Given the description of an element on the screen output the (x, y) to click on. 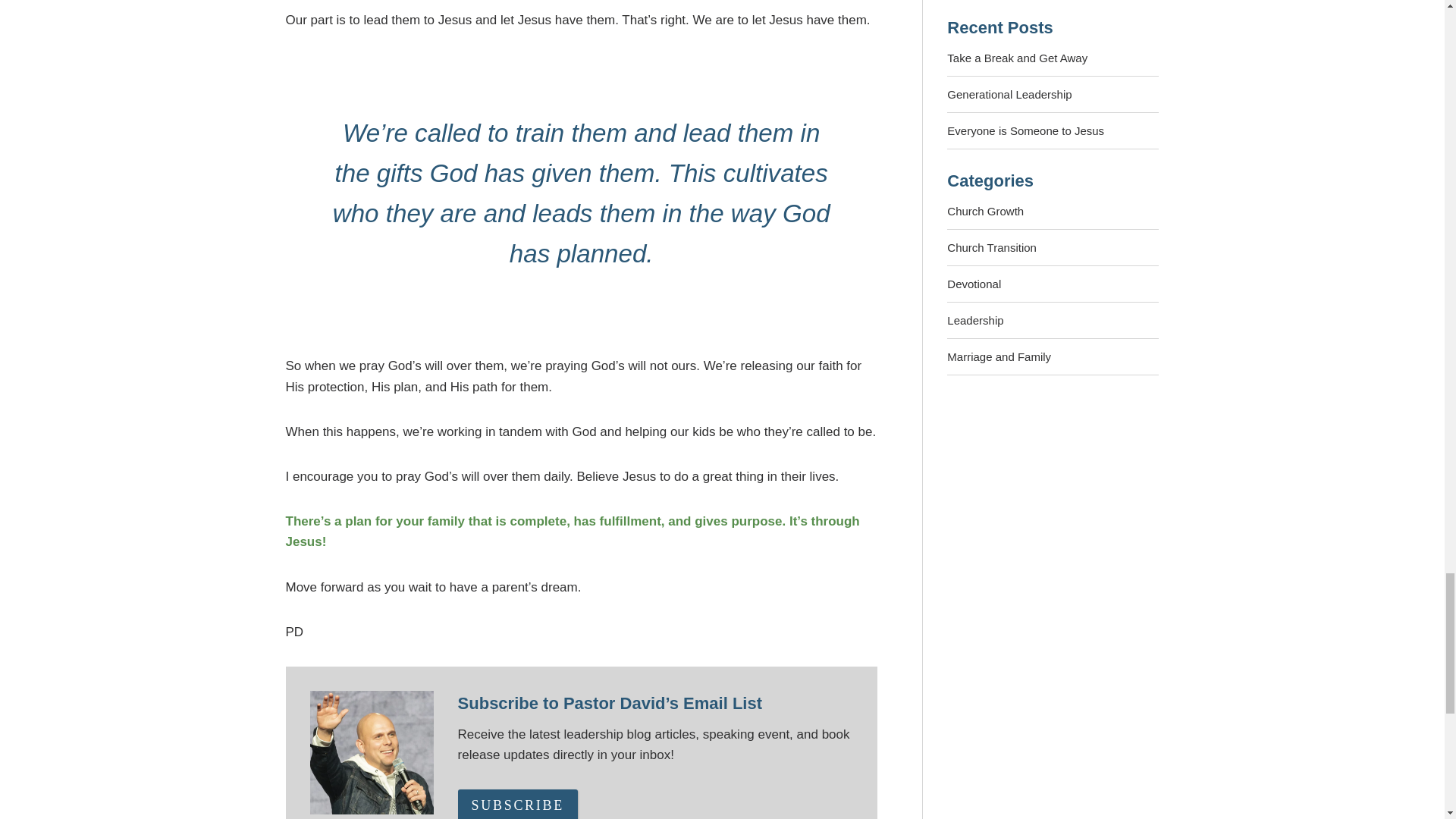
SUBSCRIBE (518, 804)
